Given the description of an element on the screen output the (x, y) to click on. 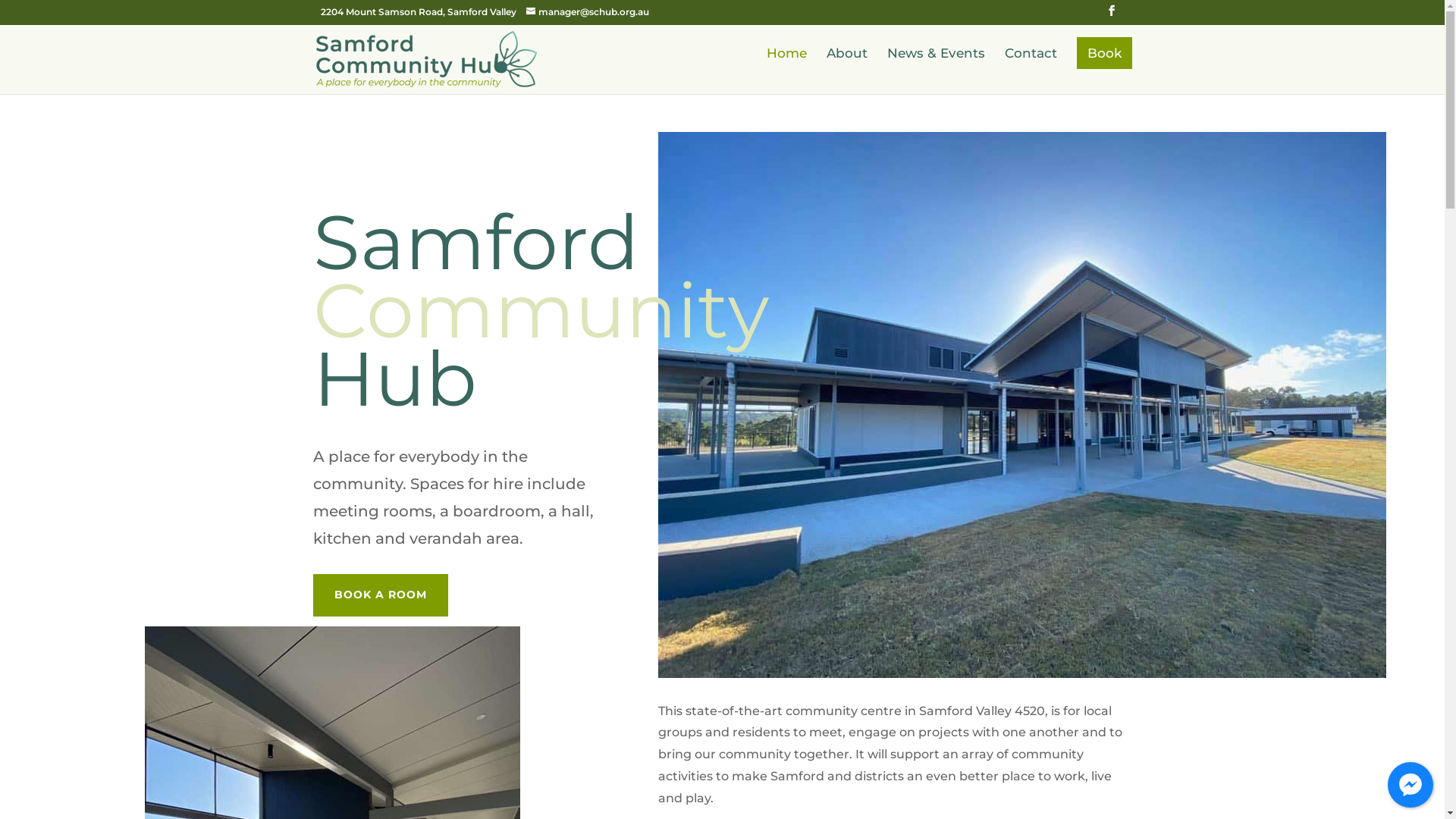
Samford Community Hall Prem Element type: hover (1022, 404)
2204 Mount Samson Road, Samford Valley Element type: text (417, 11)
News & Events Element type: text (936, 70)
manager@schub.org.au Element type: text (587, 11)
Home Element type: text (785, 70)
Contact Element type: text (1030, 70)
Book Element type: text (1104, 52)
About Element type: text (846, 70)
BOOK A ROOM Element type: text (379, 595)
